Given the description of an element on the screen output the (x, y) to click on. 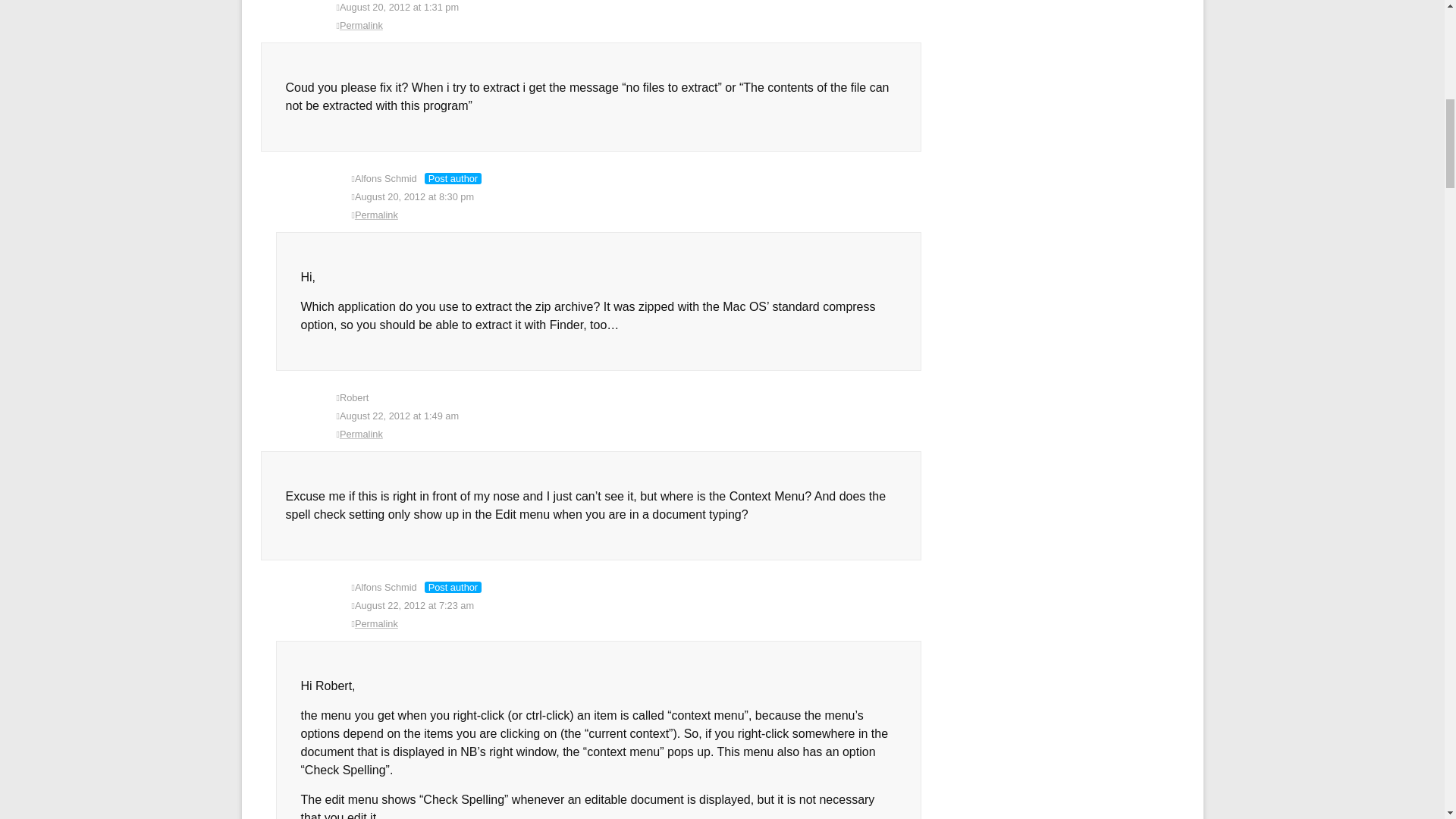
Permalink (628, 434)
Permalink (636, 215)
Permalink (636, 624)
Permalink (628, 25)
